Given the description of an element on the screen output the (x, y) to click on. 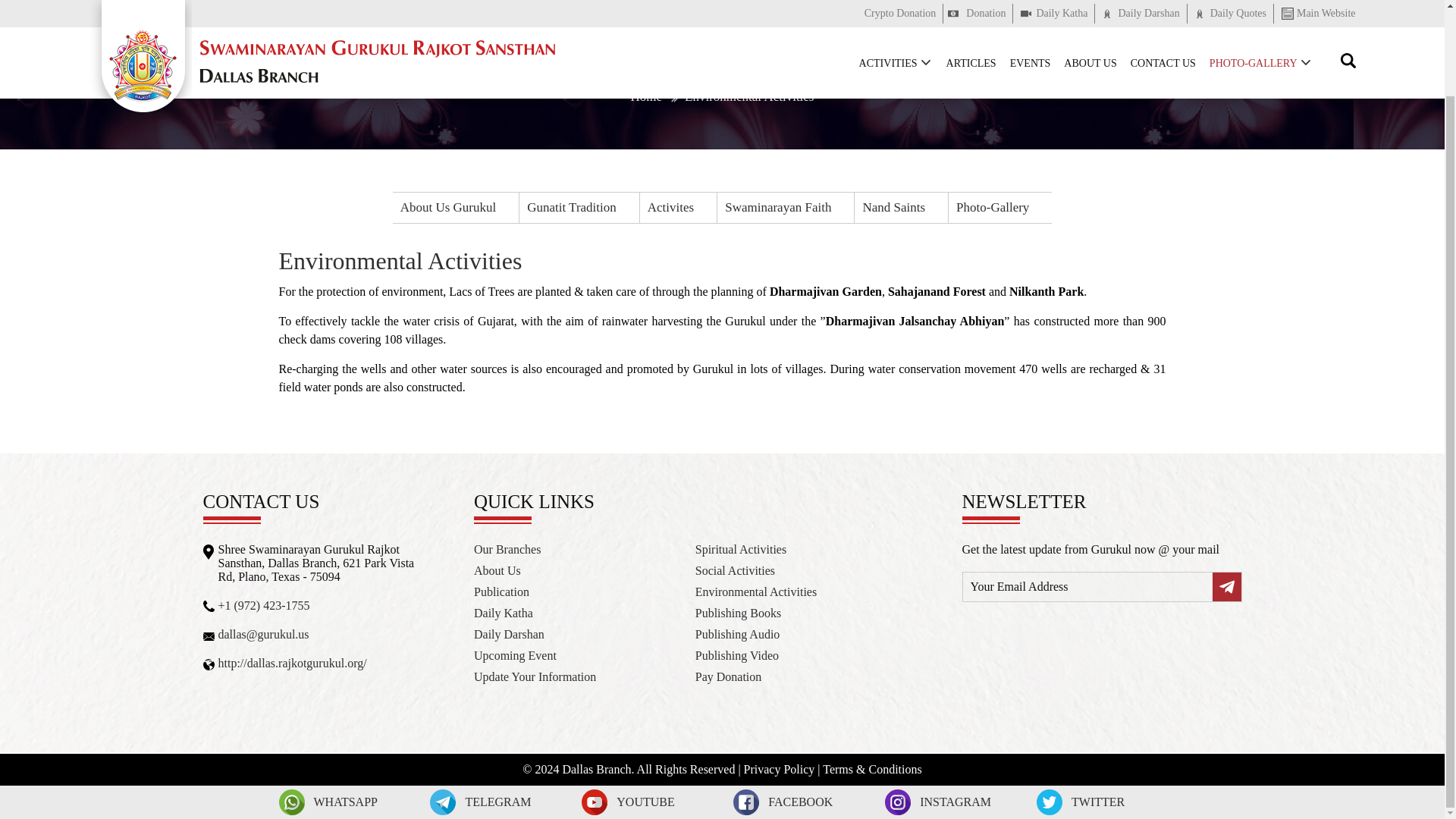
Home (646, 96)
Swaminarayan Gurukul Rajkot Sansthan (140, 16)
